Given the description of an element on the screen output the (x, y) to click on. 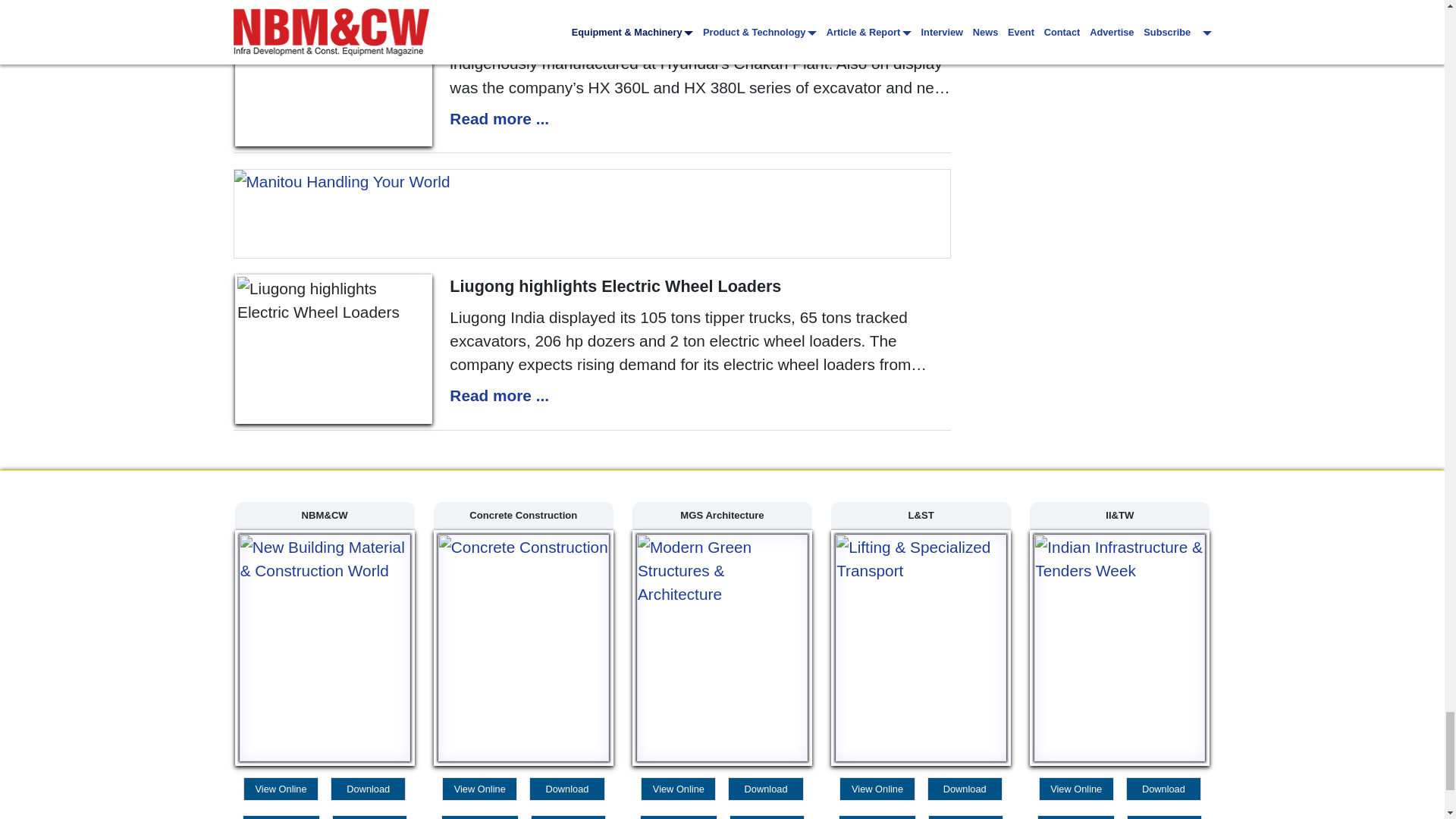
Manitou Handling Your World (591, 213)
